Given the description of an element on the screen output the (x, y) to click on. 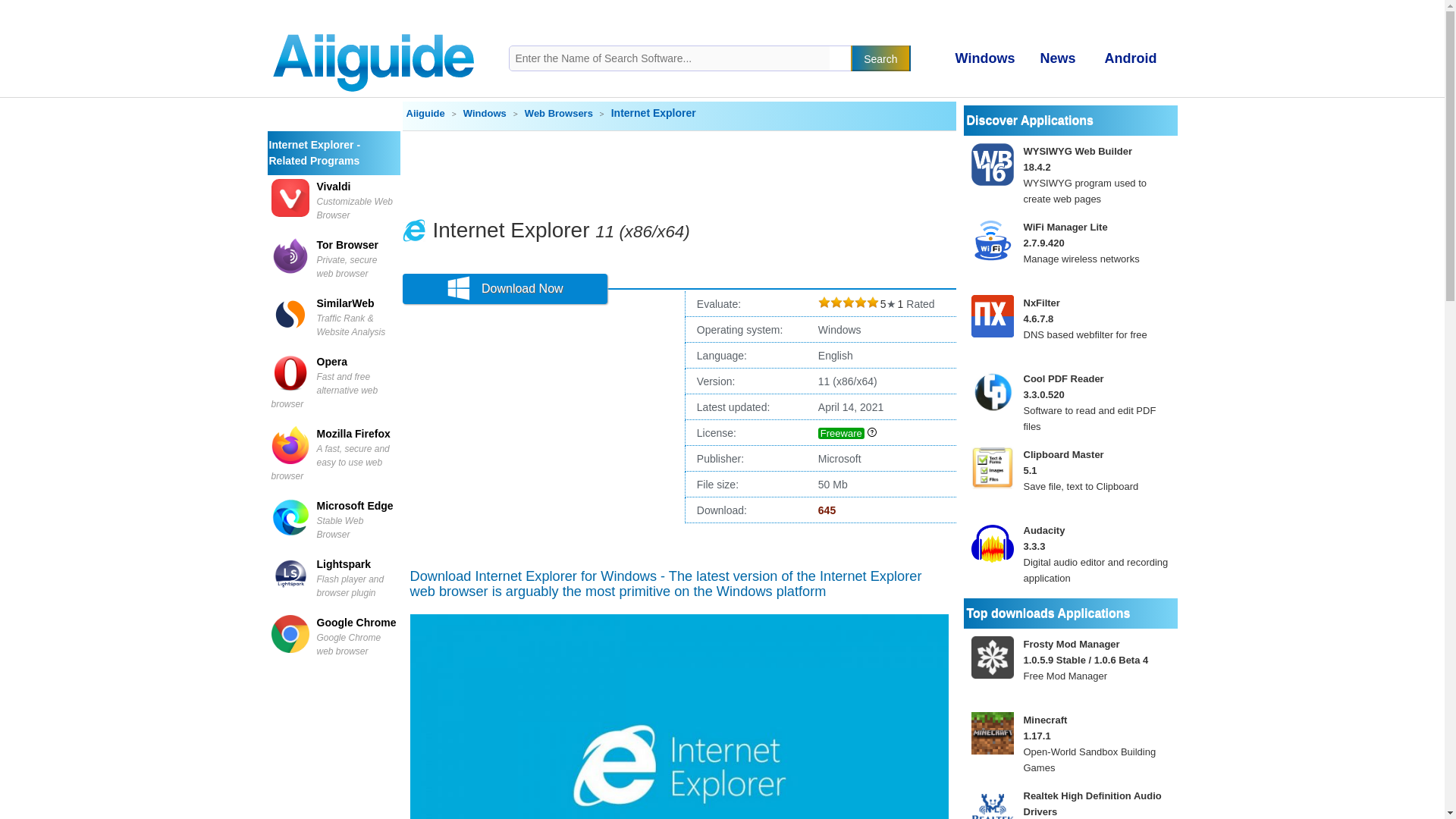
Internet Explorer (510, 229)
Vivaldi (333, 186)
News (1055, 58)
Search (880, 58)
Google Chrome (356, 622)
View image Internet Explorer (678, 716)
Opera (332, 361)
Web Browsers (559, 112)
Android (1128, 58)
News (1055, 58)
Lightspark (344, 563)
Windows (982, 58)
Advertisement (679, 172)
aiiguide.com (373, 26)
Windows (982, 58)
